Given the description of an element on the screen output the (x, y) to click on. 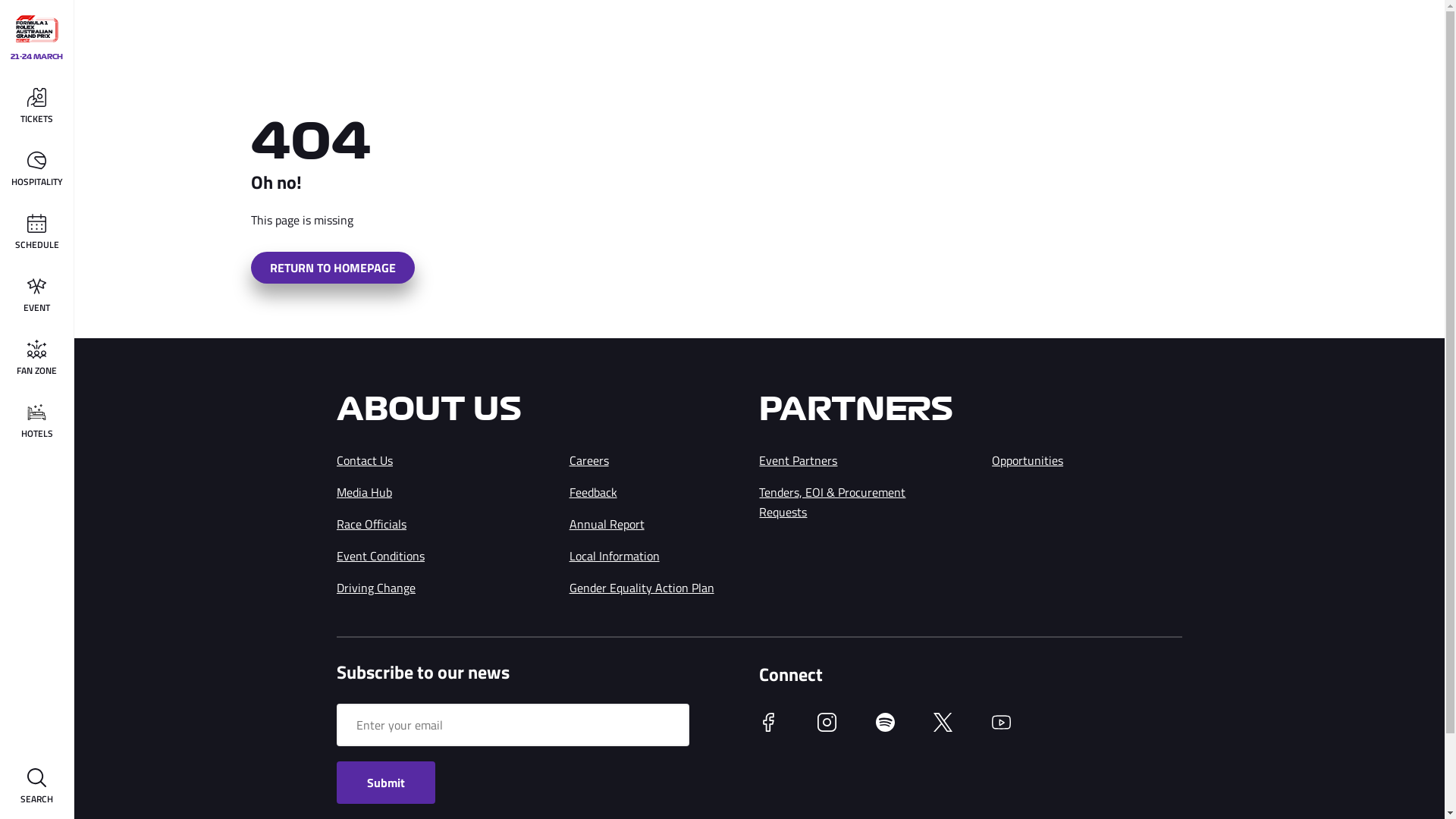
Twitter Element type: text (942, 727)
Careers Element type: text (588, 460)
HOTELS Element type: text (36, 421)
Local Information Element type: text (614, 555)
YouTube Element type: text (1000, 727)
Driving Change Element type: text (375, 587)
Feedback Element type: text (593, 492)
HOSPITALITY Element type: text (36, 169)
Race Officials Element type: text (371, 523)
Facebook Element type: text (768, 727)
Submit Element type: text (385, 782)
Instagram Element type: text (826, 727)
Tenders, EOI & Procurement Requests Element type: text (832, 501)
Annual Report Element type: text (606, 523)
Gender Equality Action Plan Element type: text (641, 587)
TICKETS Element type: text (36, 106)
Opportunities Element type: text (1027, 460)
21-24 MARCH Element type: text (36, 37)
Media Hub Element type: text (364, 492)
Contact Us Element type: text (364, 460)
EVENT Element type: text (36, 295)
SCHEDULE Element type: text (36, 232)
Event Conditions Element type: text (380, 555)
Spotify Element type: text (884, 727)
RETURN TO HOMEPAGE Element type: text (332, 267)
FAN ZONE Element type: text (36, 358)
Event Partners Element type: text (798, 460)
